Given the description of an element on the screen output the (x, y) to click on. 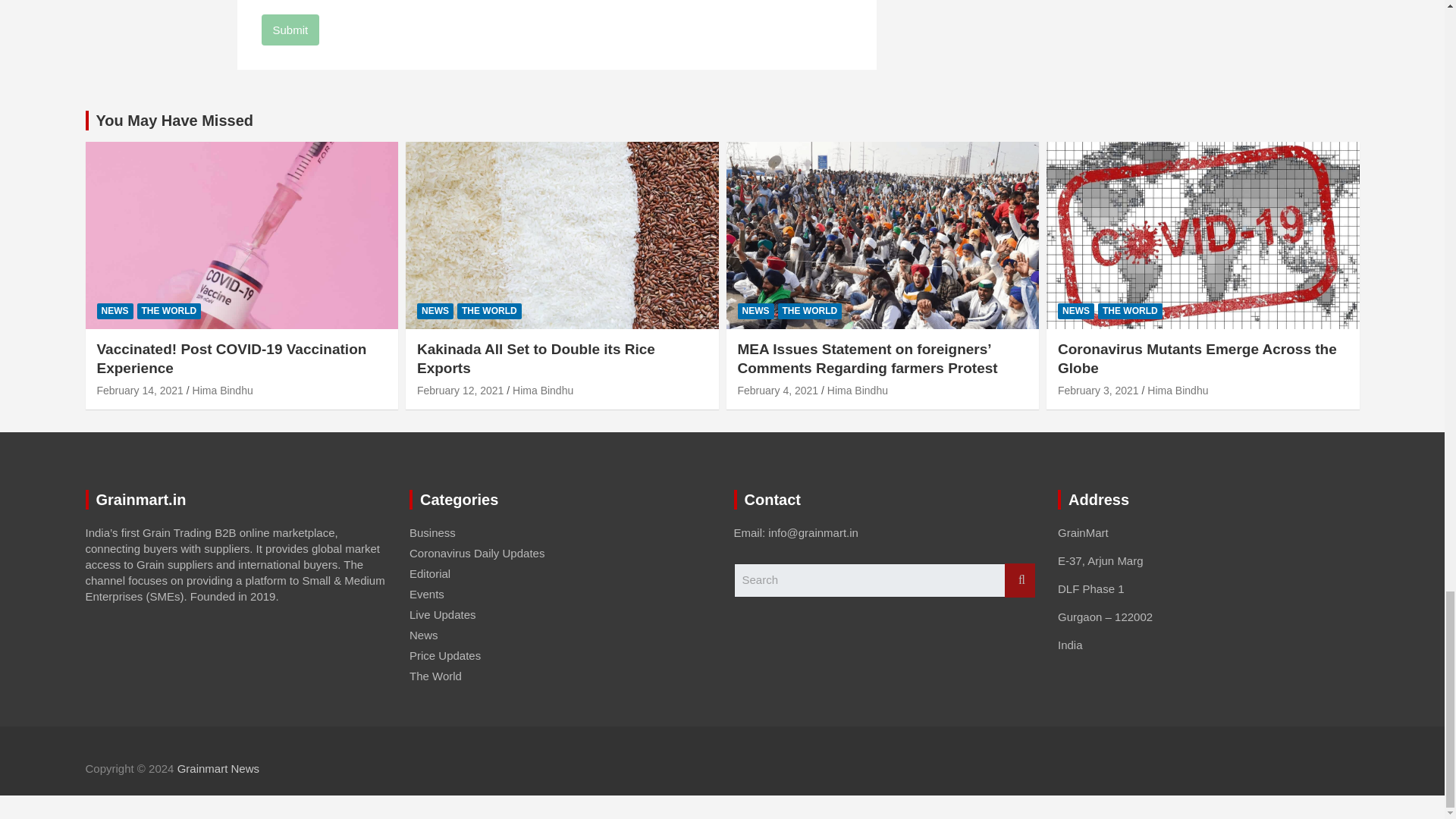
Kakinada All Set to Double its Rice Exports (459, 390)
Coronavirus Mutants Emerge Across the Globe (1098, 390)
Vaccinated! Post COVID-19 Vaccination Experience (140, 390)
